Given the description of an element on the screen output the (x, y) to click on. 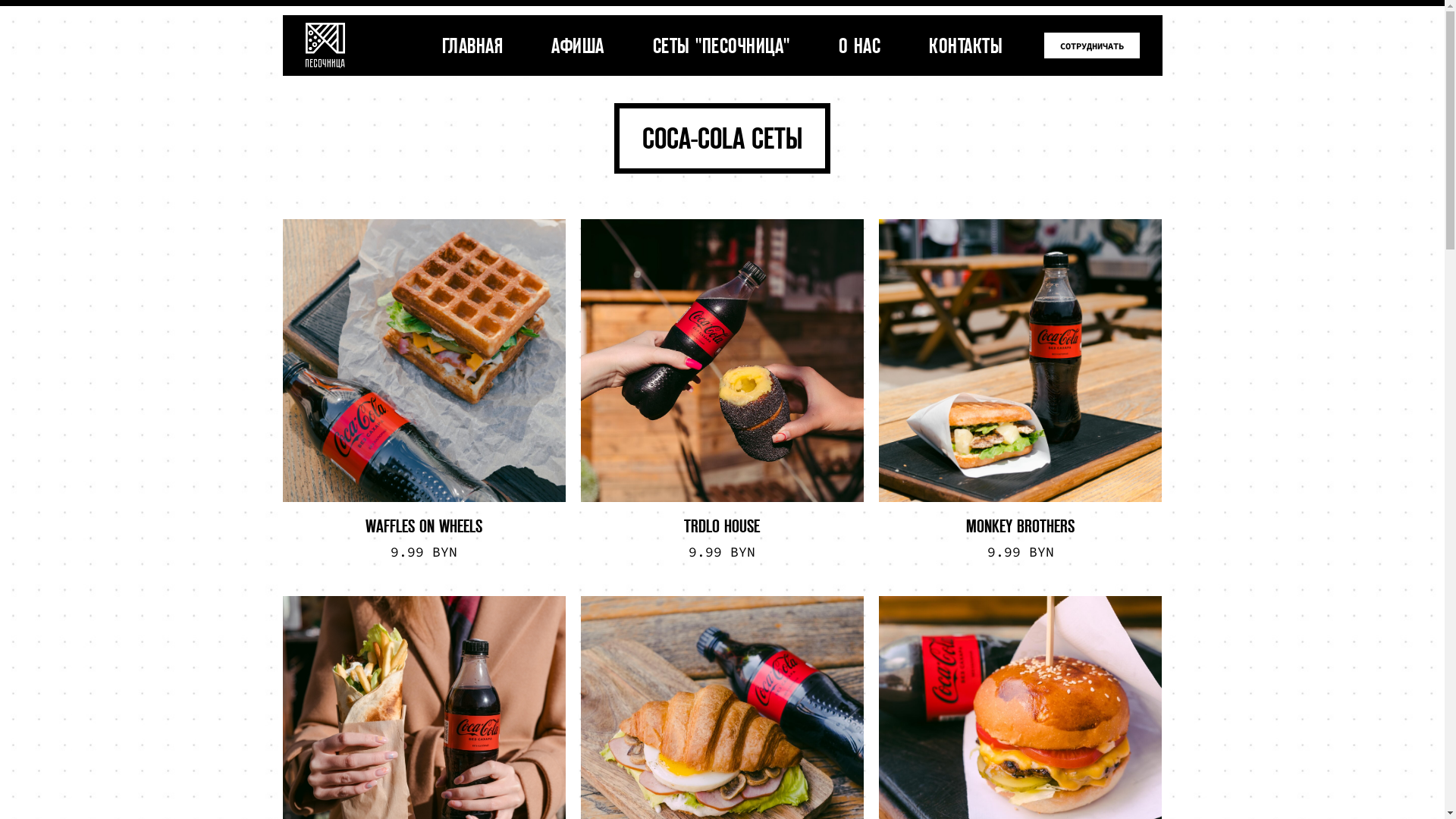
WAFFLES ON WHEELS
9.99 BYN Element type: text (423, 390)
TRDLO HOUSE
9.99 BYN Element type: text (721, 390)
MONKEY BROTHERS
9.99 BYN Element type: text (1019, 390)
